Given the description of an element on the screen output the (x, y) to click on. 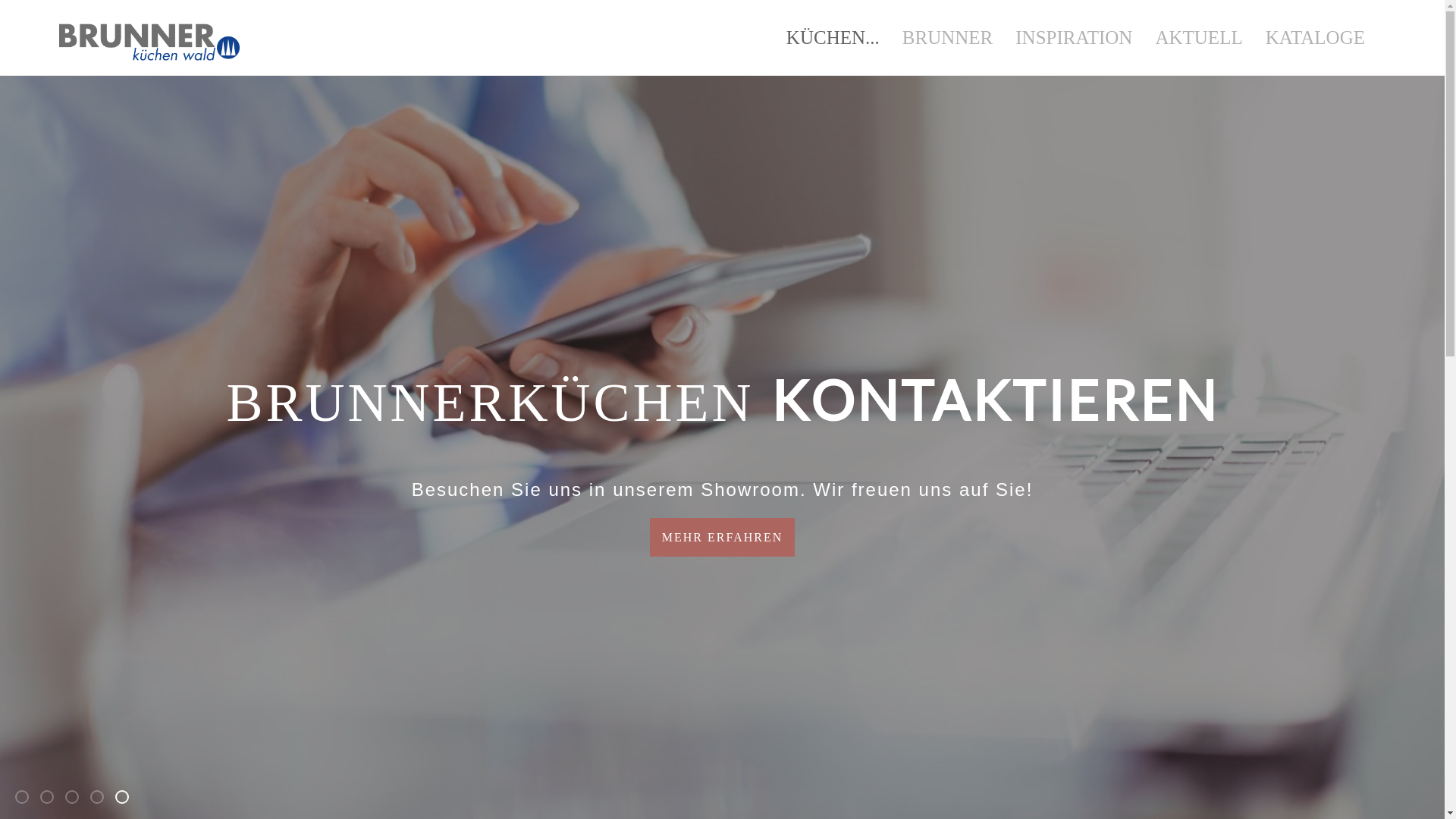
INSPIRATION Element type: text (1073, 37)
AKTUELL Element type: text (1198, 37)
MEHR ERFAHREN Element type: text (722, 536)
BRUNNER Element type: text (947, 37)
KATALOGE Element type: text (1315, 37)
